Given the description of an element on the screen output the (x, y) to click on. 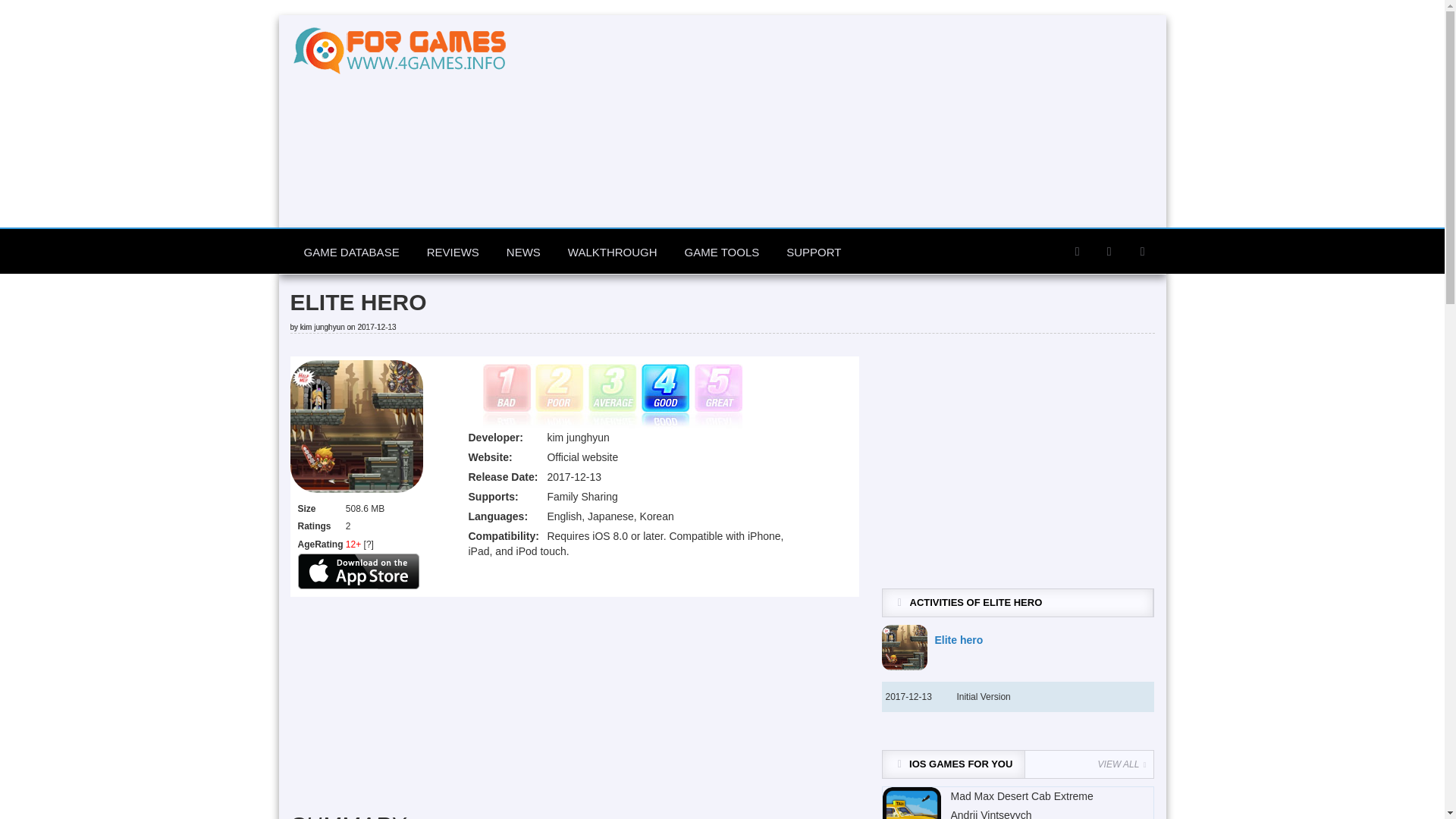
Official website (582, 457)
Available on the AppStore (358, 570)
Download on the AppStore (358, 570)
GAME DATABASE (350, 251)
WHAT ARE THE RATINGS? (369, 543)
Ratings: 4.5 (611, 395)
